Given the description of an element on the screen output the (x, y) to click on. 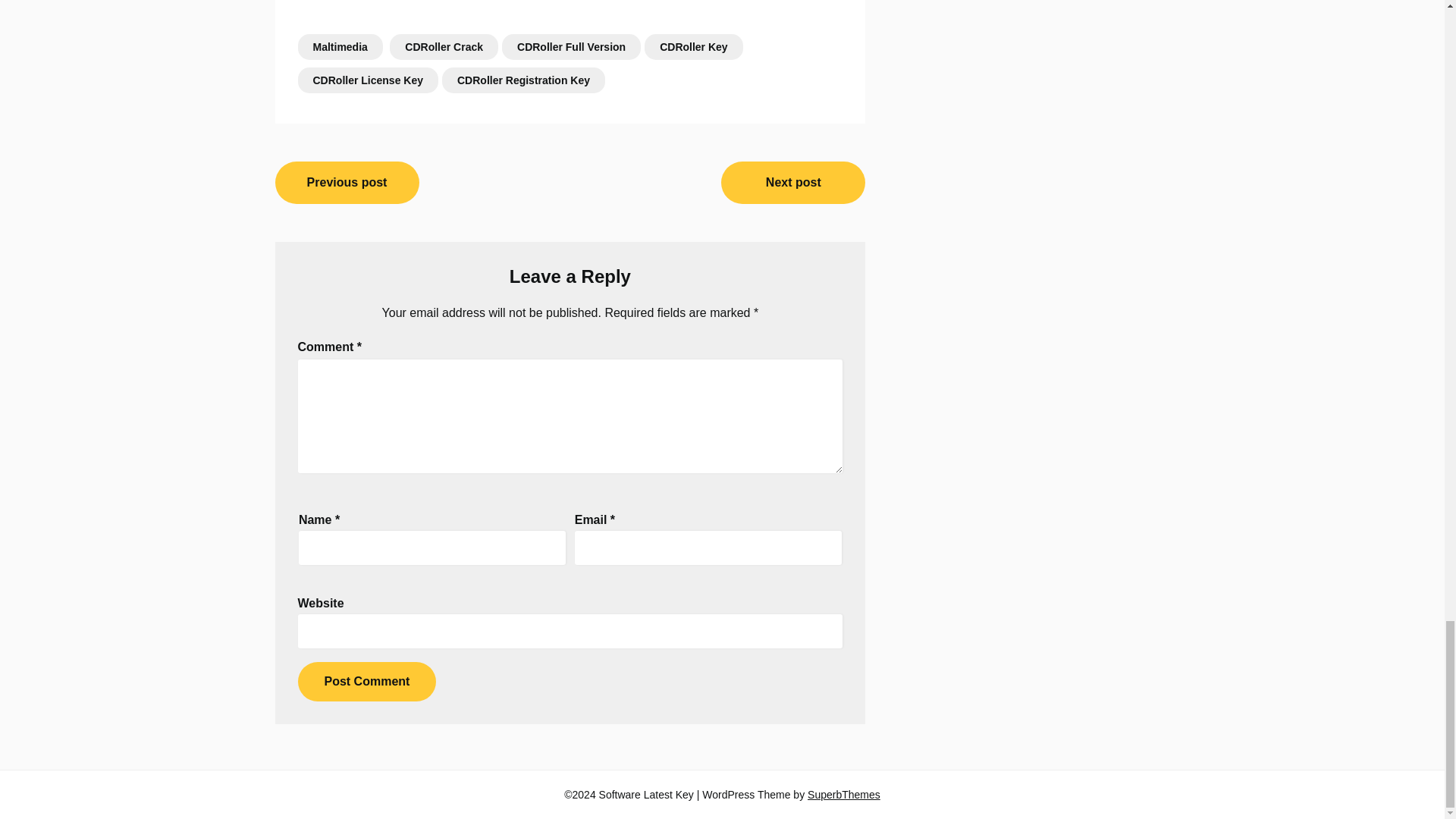
CDRoller Full Version (571, 46)
Next post (792, 182)
CDRoller Crack (443, 46)
Post Comment (366, 681)
CDRoller Registration Key (523, 80)
CDRoller License Key (367, 80)
Previous post (347, 182)
CDRoller Key (693, 46)
Maltimedia (339, 46)
Post Comment (366, 681)
